Given the description of an element on the screen output the (x, y) to click on. 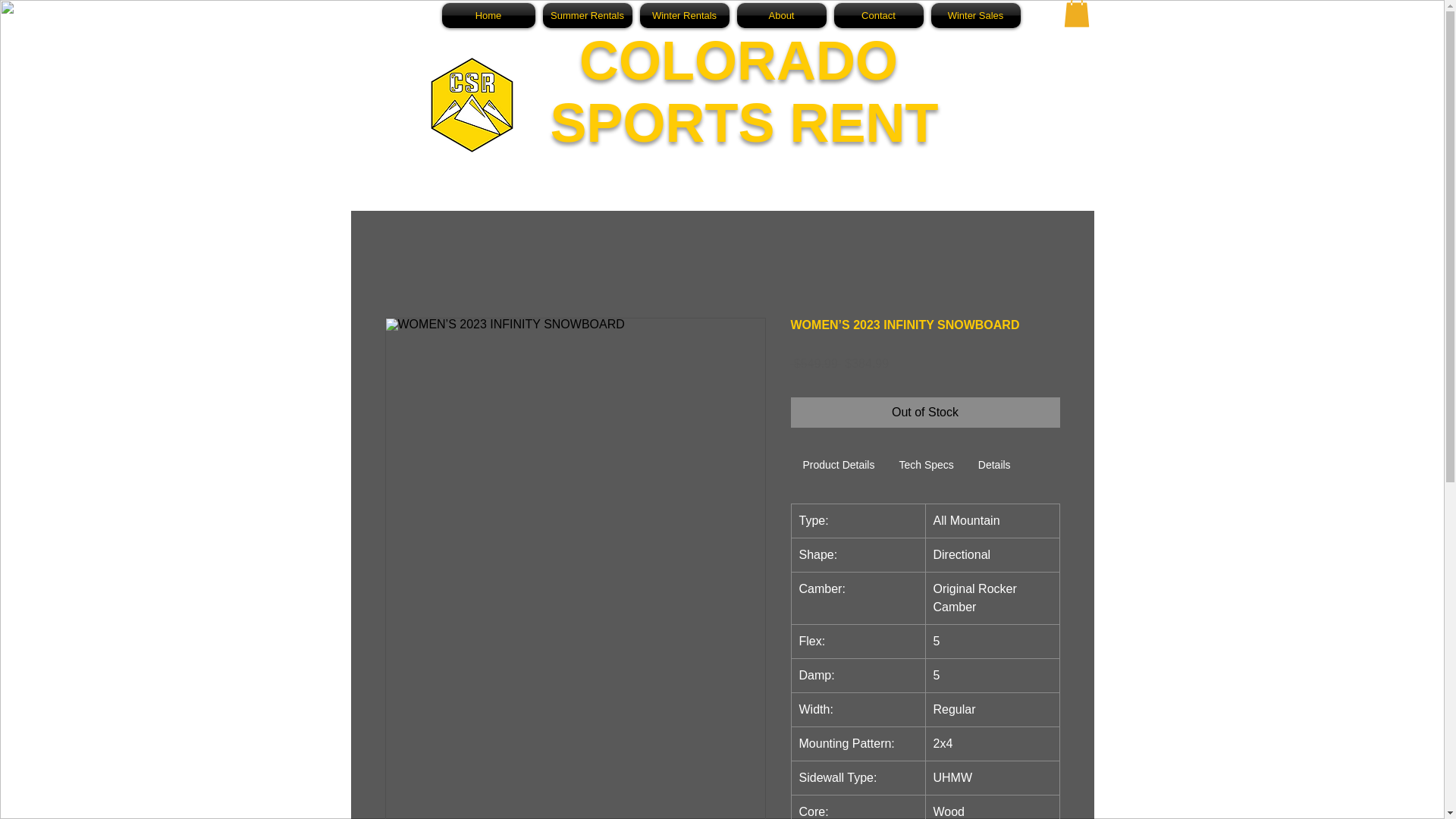
Contact (877, 15)
Home (489, 15)
About (780, 15)
Winter Sales (974, 15)
Use right and left arrows to navigate between tabs (995, 465)
Use right and left arrows to navigate between tabs (925, 465)
Out of Stock (924, 412)
Use right and left arrows to navigate between tabs (838, 465)
